Given the description of an element on the screen output the (x, y) to click on. 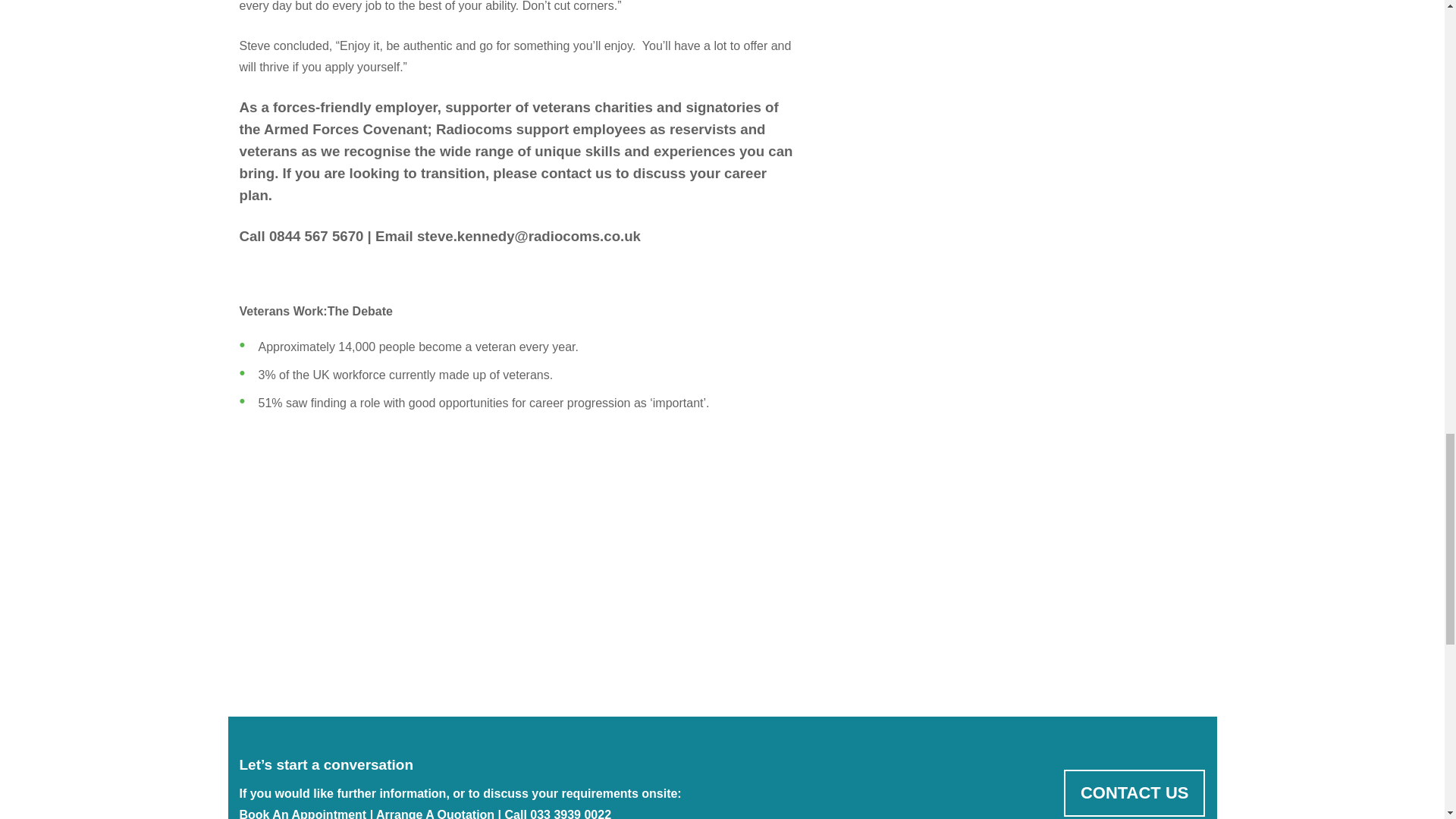
YouTube video player (451, 554)
